Given the description of an element on the screen output the (x, y) to click on. 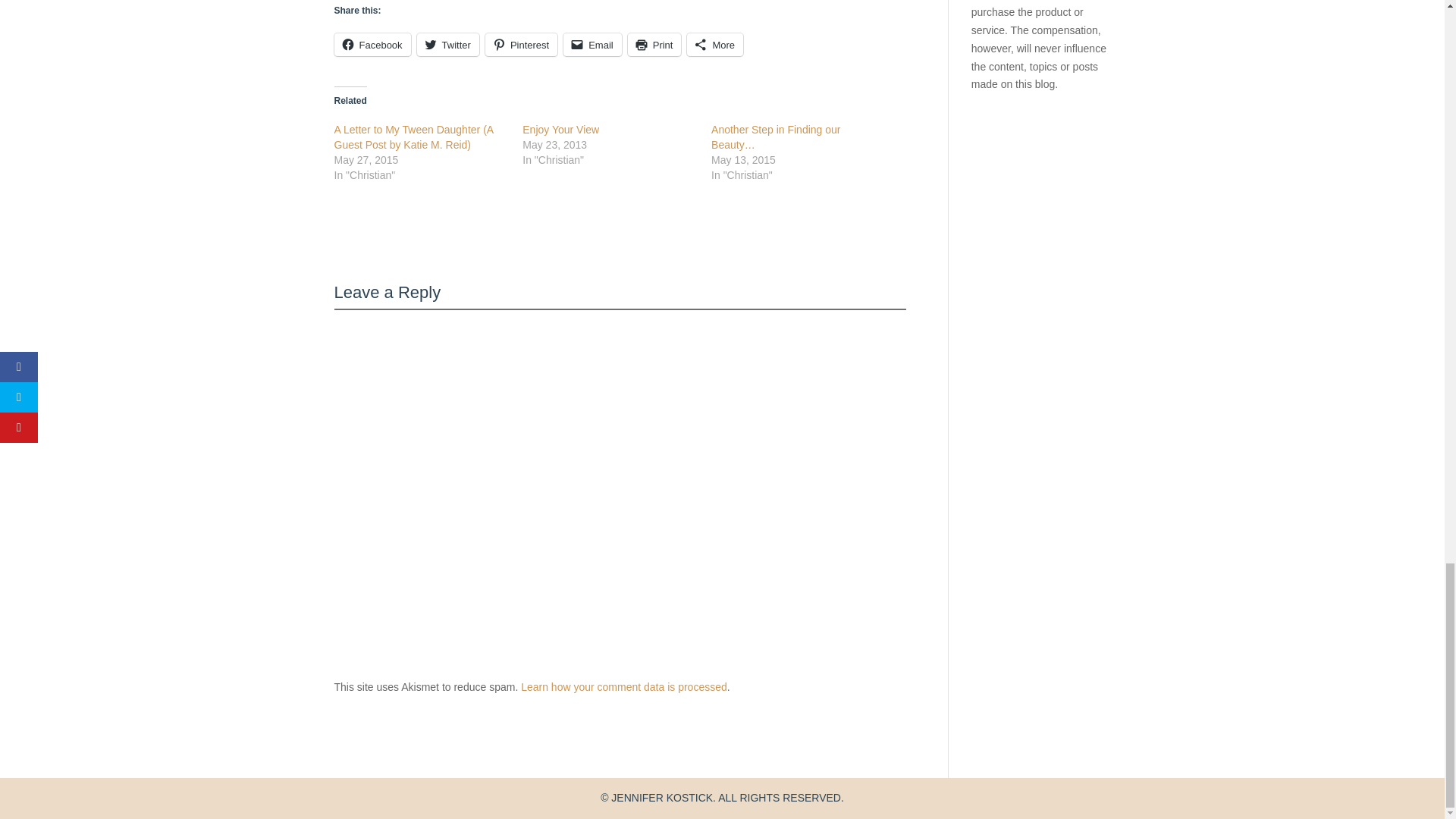
Pinterest (520, 44)
Twitter (447, 44)
Click to print (654, 44)
Facebook (371, 44)
Click to email a link to a friend (592, 44)
More (714, 44)
Print (654, 44)
Click to share on Twitter (447, 44)
Learn how your comment data is processed (623, 686)
